Given the description of an element on the screen output the (x, y) to click on. 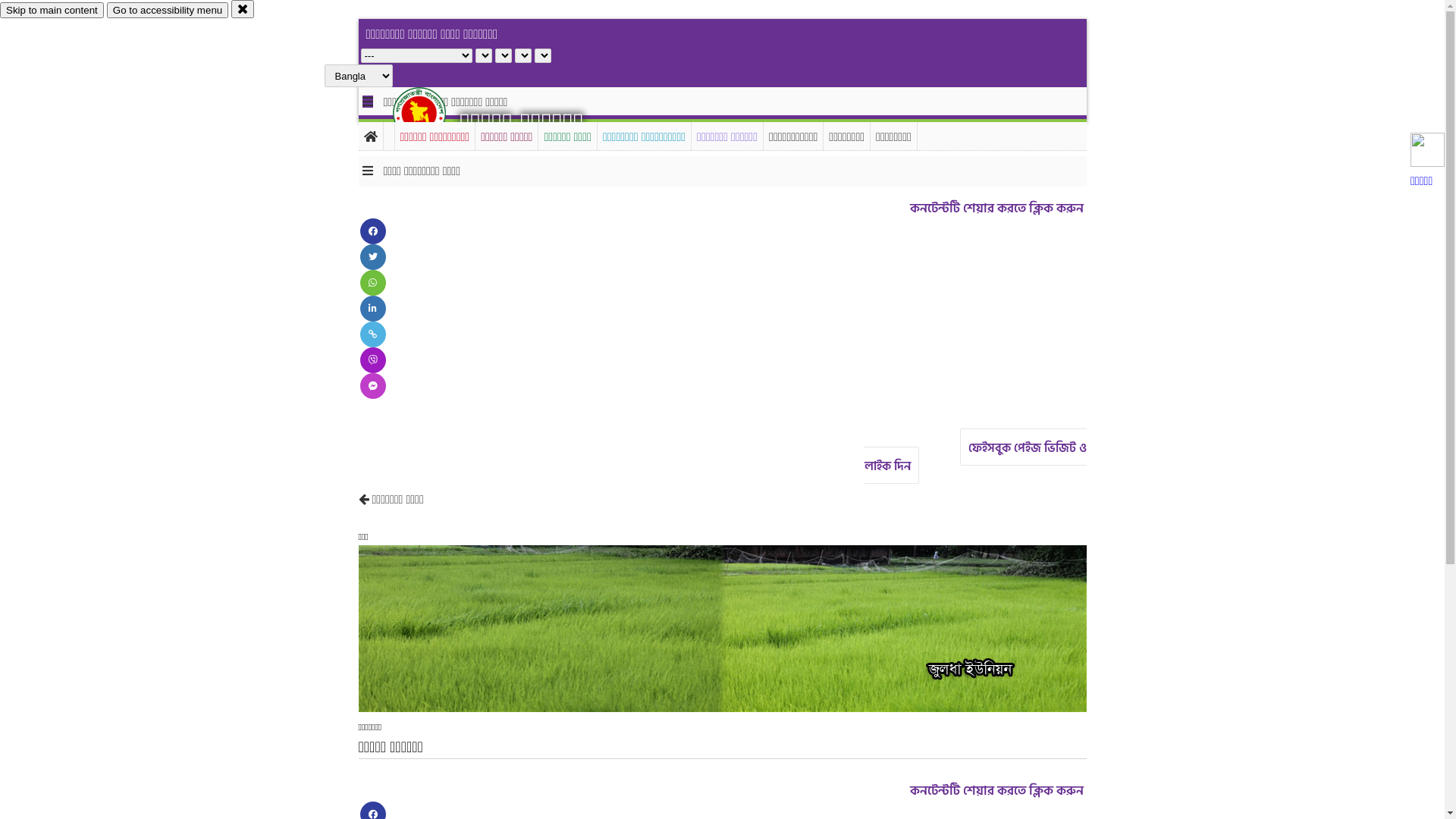
close Element type: hover (242, 9)

                
             Element type: hover (431, 112)
Skip to main content Element type: text (51, 10)
Go to accessibility menu Element type: text (167, 10)
